Given the description of an element on the screen output the (x, y) to click on. 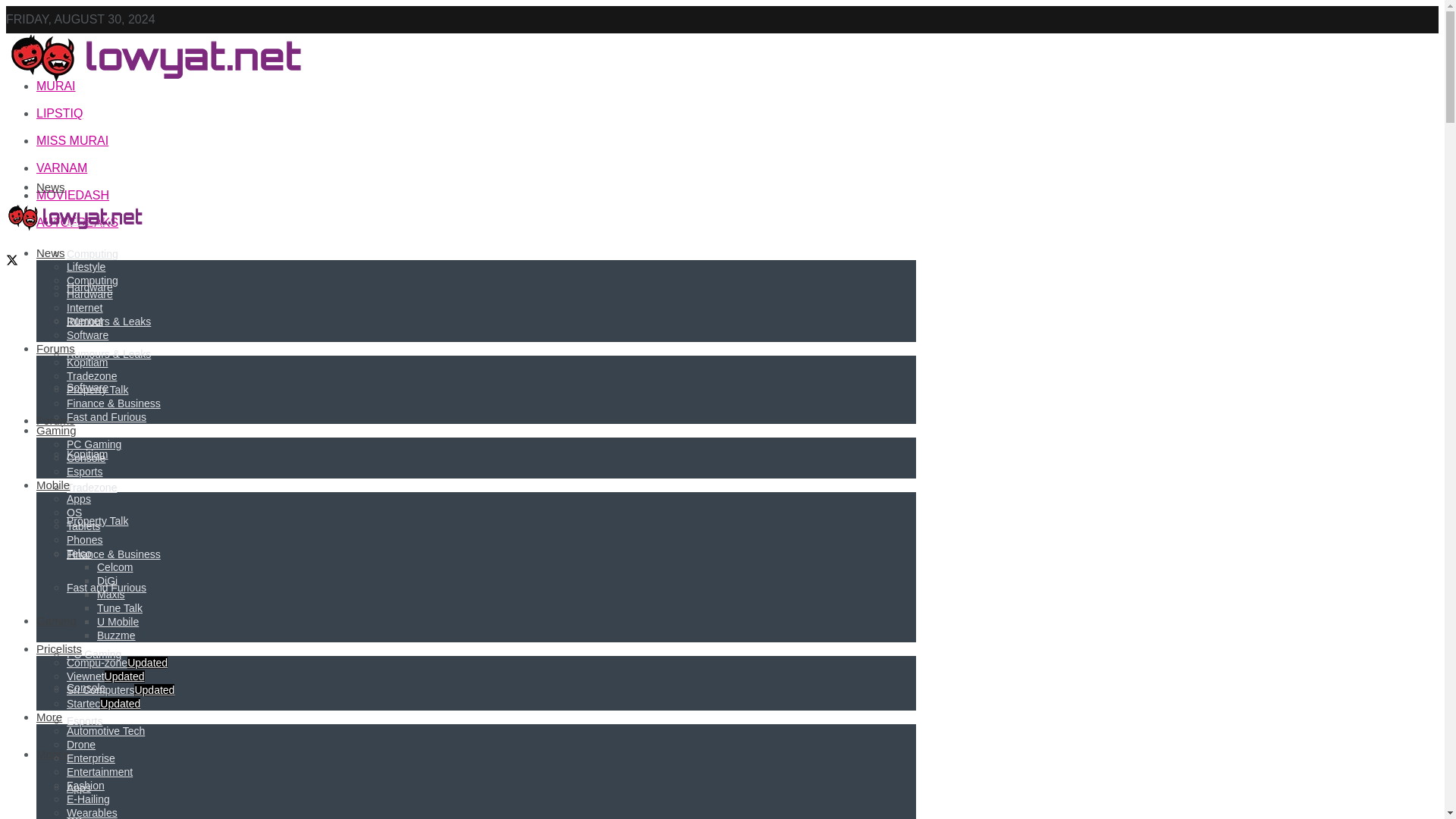
Software (86, 387)
HYPE (52, 58)
Kopitiam (86, 453)
Computing (91, 254)
Esports (83, 720)
Lifestyle (85, 220)
Tradezone (91, 487)
Hardware (89, 287)
VARNAM (61, 167)
Property Talk (97, 521)
